Given the description of an element on the screen output the (x, y) to click on. 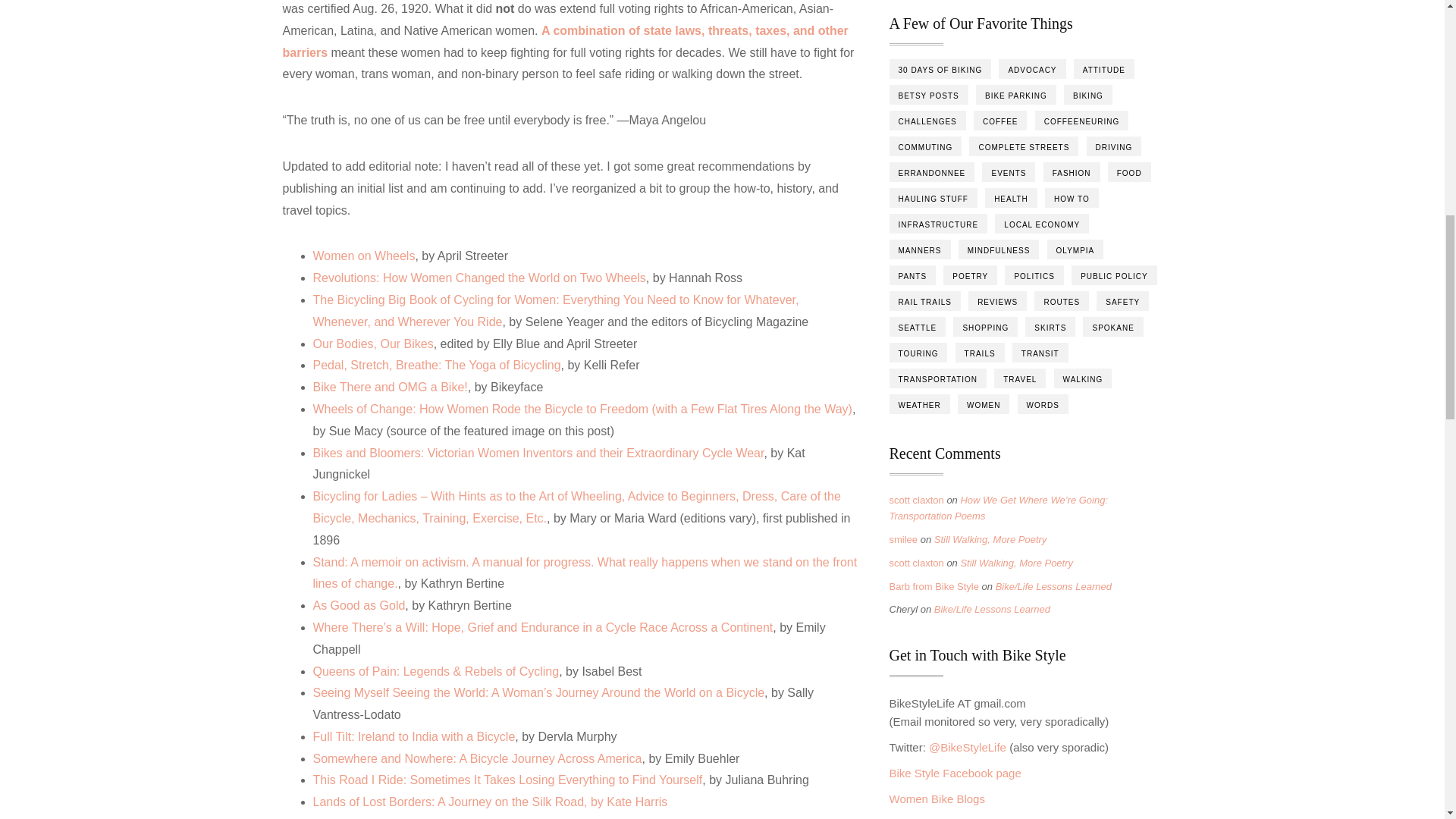
Our Bodies, Our Bikes (372, 343)
Pedal, Stretch, Breathe: The Yoga of Bicycling (436, 364)
As Good as Gold (358, 604)
Women on Wheels (363, 255)
Revolutions: How Women Changed the World on Two Wheels (479, 277)
Bike There and OMG a Bike! (390, 386)
